Given the description of an element on the screen output the (x, y) to click on. 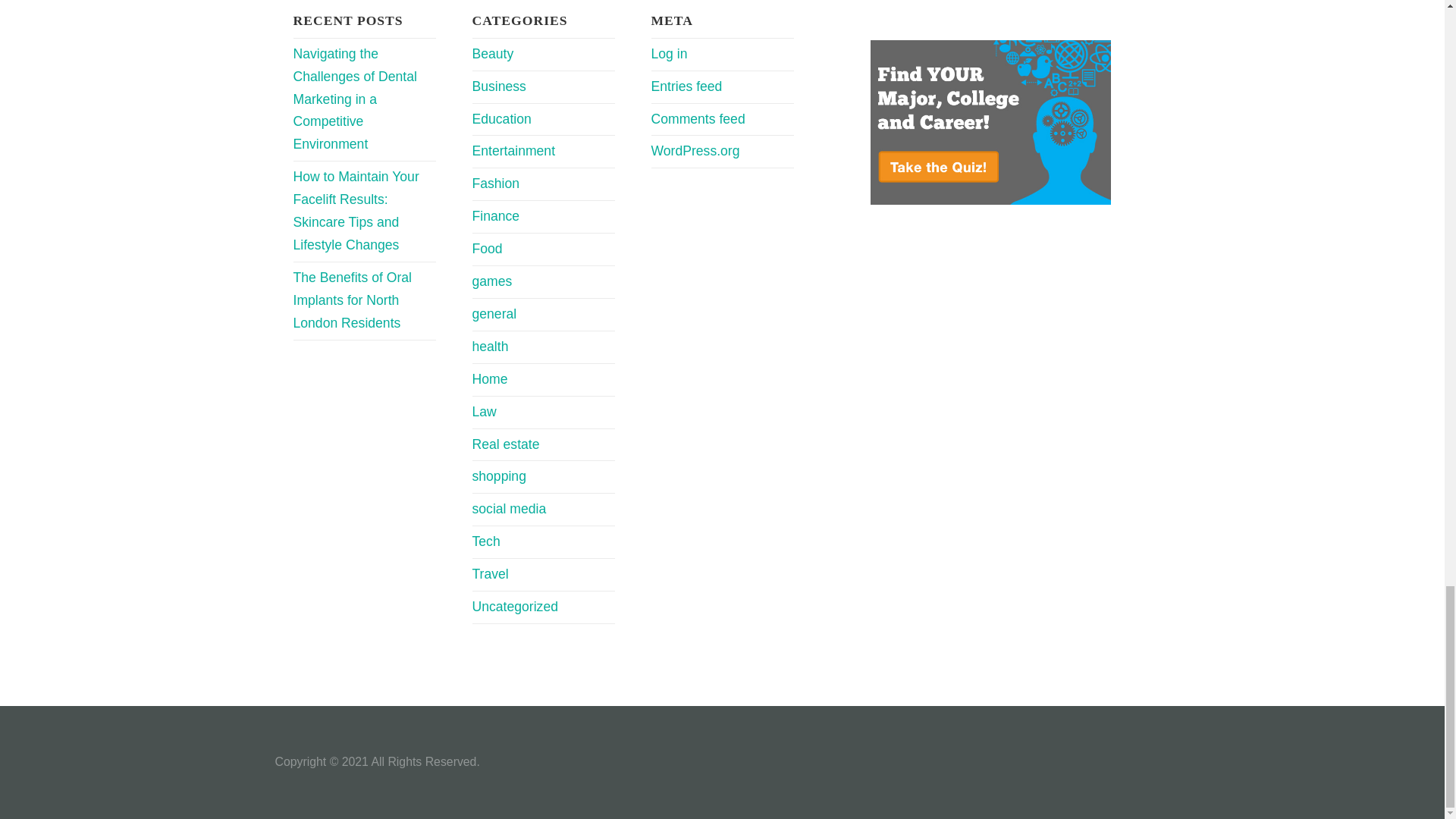
Real estate (504, 444)
Home (488, 378)
The Benefits of Oral Implants for North London Residents (351, 300)
Business (498, 86)
Tech (485, 540)
Travel (489, 573)
Entertainment (512, 150)
health (489, 346)
Fashion (495, 183)
